Given the description of an element on the screen output the (x, y) to click on. 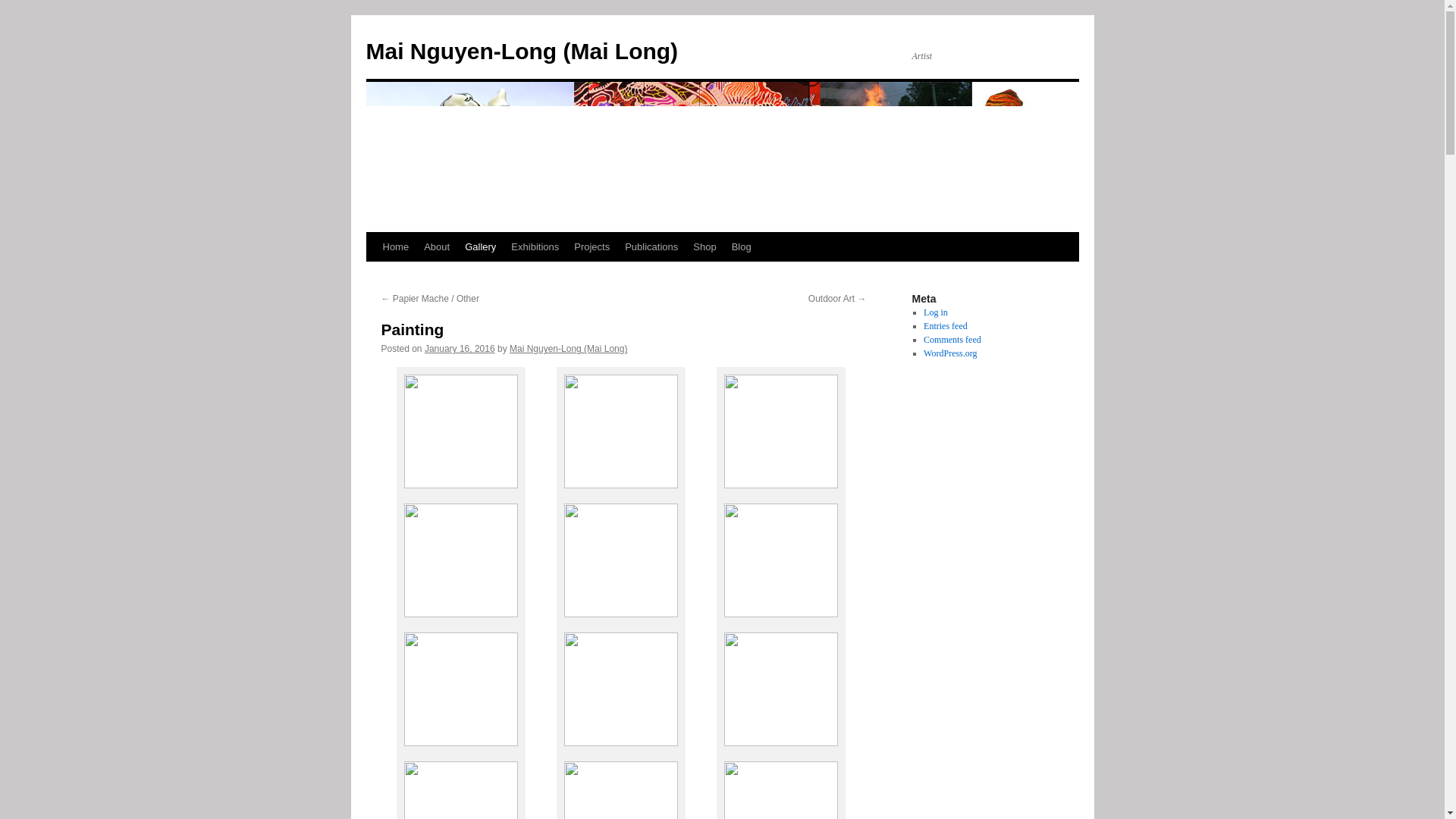
Exhibitions (534, 246)
Projects (591, 246)
About (436, 246)
Gallery (480, 246)
4:39 pm (460, 348)
Home (395, 246)
